Given the description of an element on the screen output the (x, y) to click on. 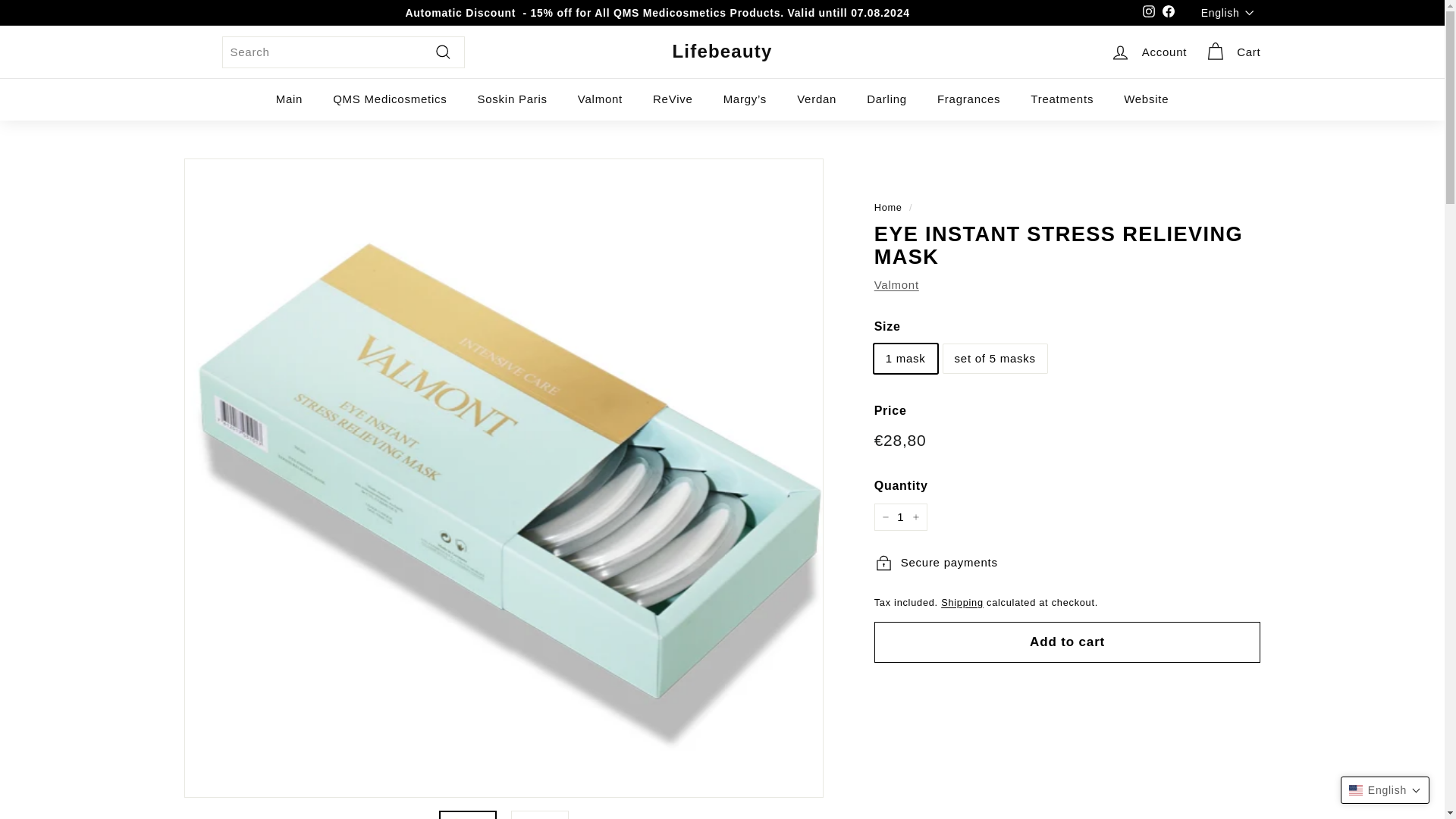
1 (901, 516)
Lifebeauty (721, 50)
Main (289, 98)
English (1230, 12)
Valmont (896, 284)
Account (1147, 51)
Back to the frontpage (888, 206)
